Given the description of an element on the screen output the (x, y) to click on. 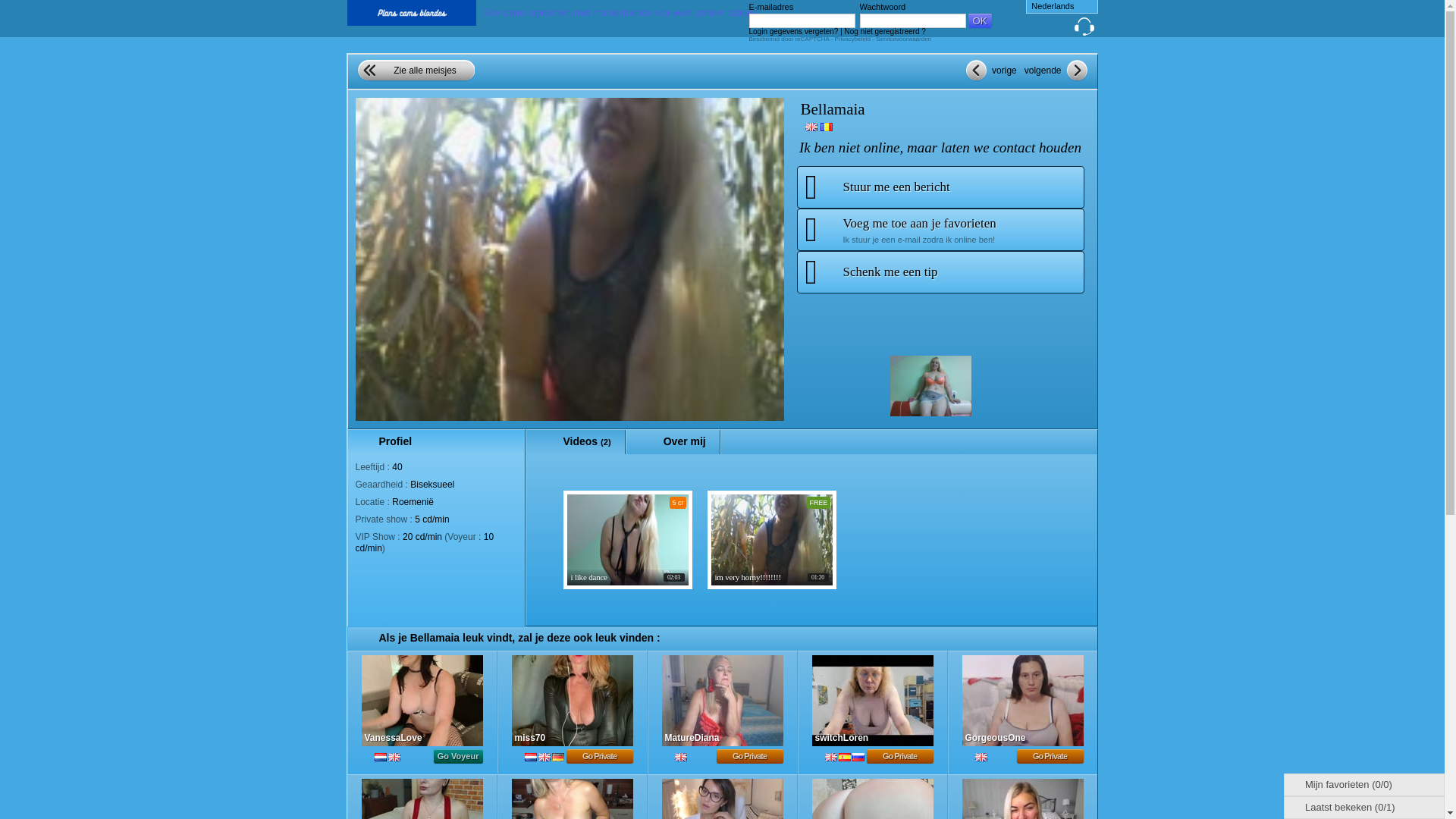
At least 4 characters (802, 20)
Privacybeleid (853, 39)
Nog niet geregistreerd ? (885, 31)
Schenk me een tip (940, 271)
OK (979, 20)
bellamaia (930, 385)
volgende (1053, 69)
Servicevoorwaarden (903, 39)
Login gegevens vergeten? (793, 31)
